Given the description of an element on the screen output the (x, y) to click on. 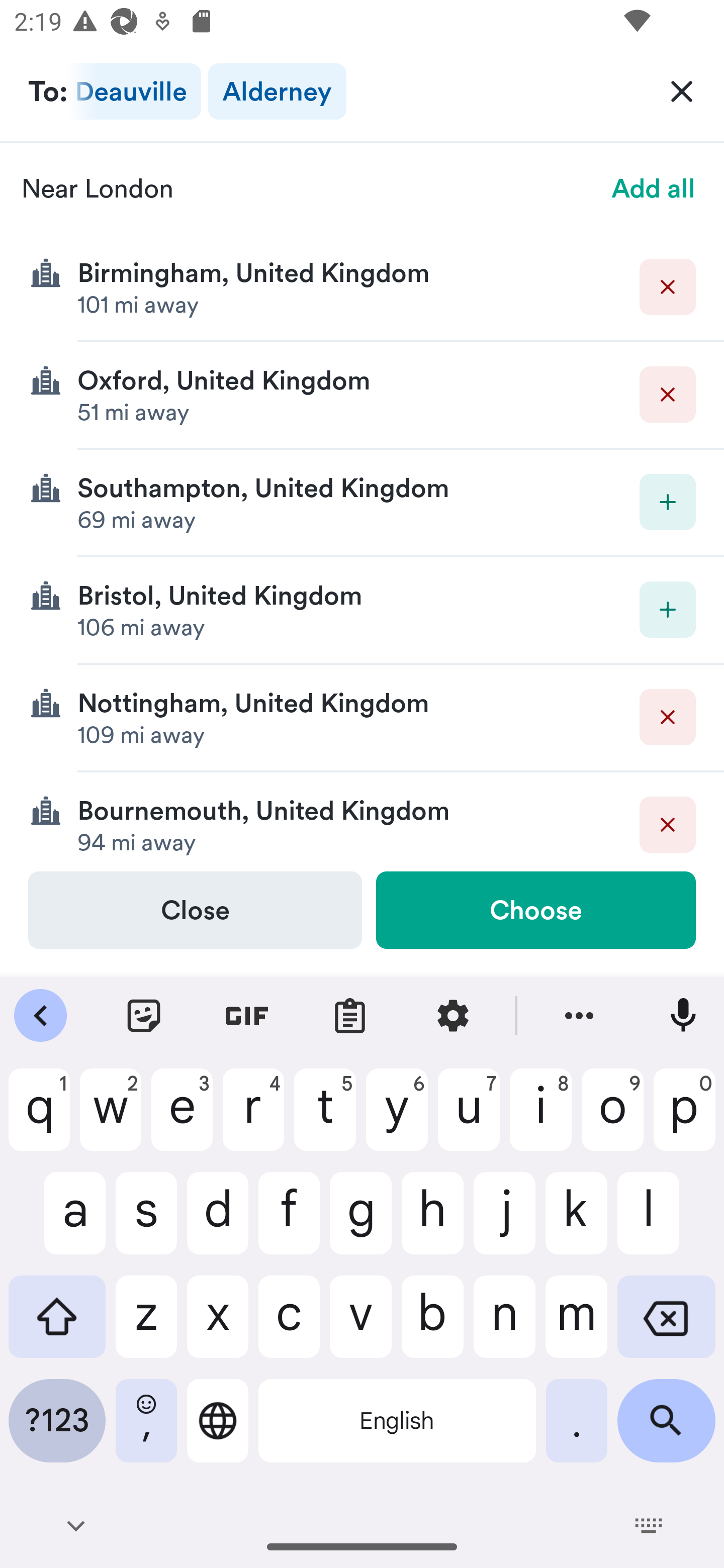
Clear All (681, 90)
Deauville (134, 91)
Alderney (277, 91)
Add all (653, 187)
Delete Birmingham, United Kingdom 101 mi away (362, 287)
Delete (667, 286)
Delete Oxford, United Kingdom 51 mi away (362, 395)
Delete (667, 394)
Add destination (667, 501)
Add destination (667, 609)
Delete Nottingham, United Kingdom 109 mi away (362, 717)
Delete (667, 716)
Delete Bournemouth, United Kingdom 94 mi away (362, 821)
Delete (667, 824)
Close (195, 909)
Choose (535, 909)
